Given the description of an element on the screen output the (x, y) to click on. 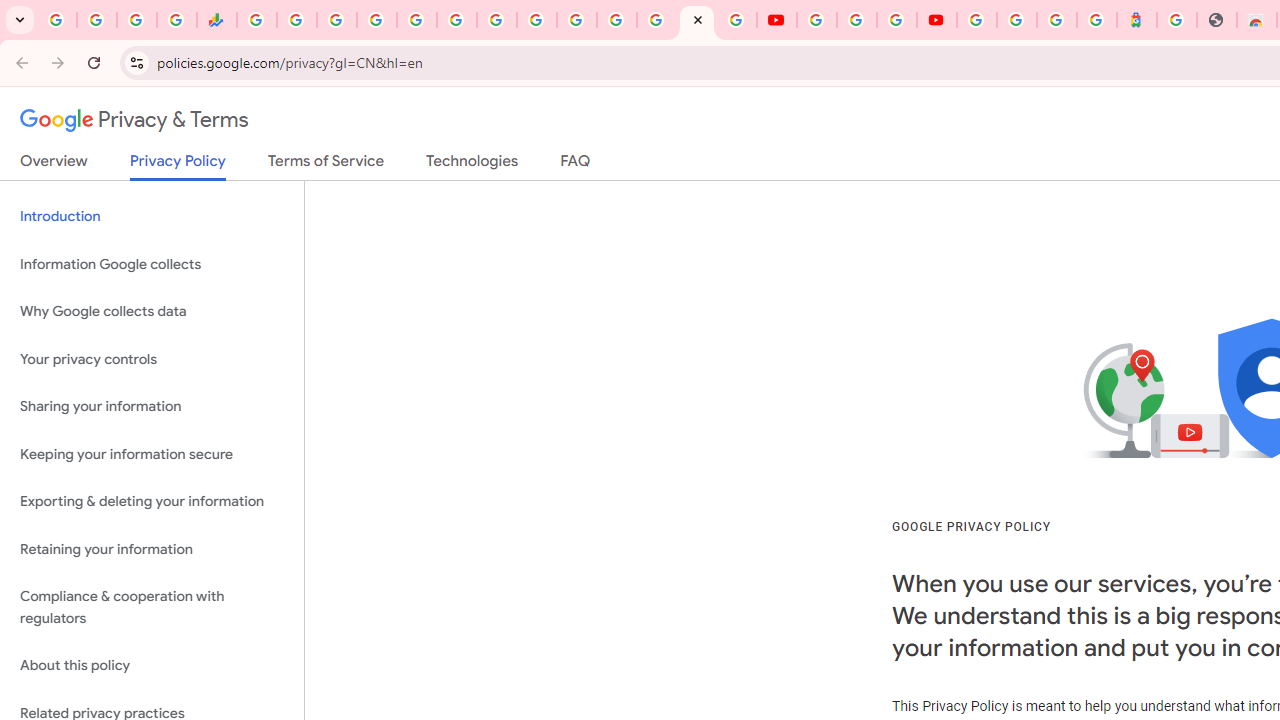
Sign in - Google Accounts (657, 20)
Atour Hotel - Google hotels (1137, 20)
Why Google collects data (152, 312)
Introduction (152, 216)
Exporting & deleting your information (152, 502)
Privacy & Terms (134, 120)
